Given the description of an element on the screen output the (x, y) to click on. 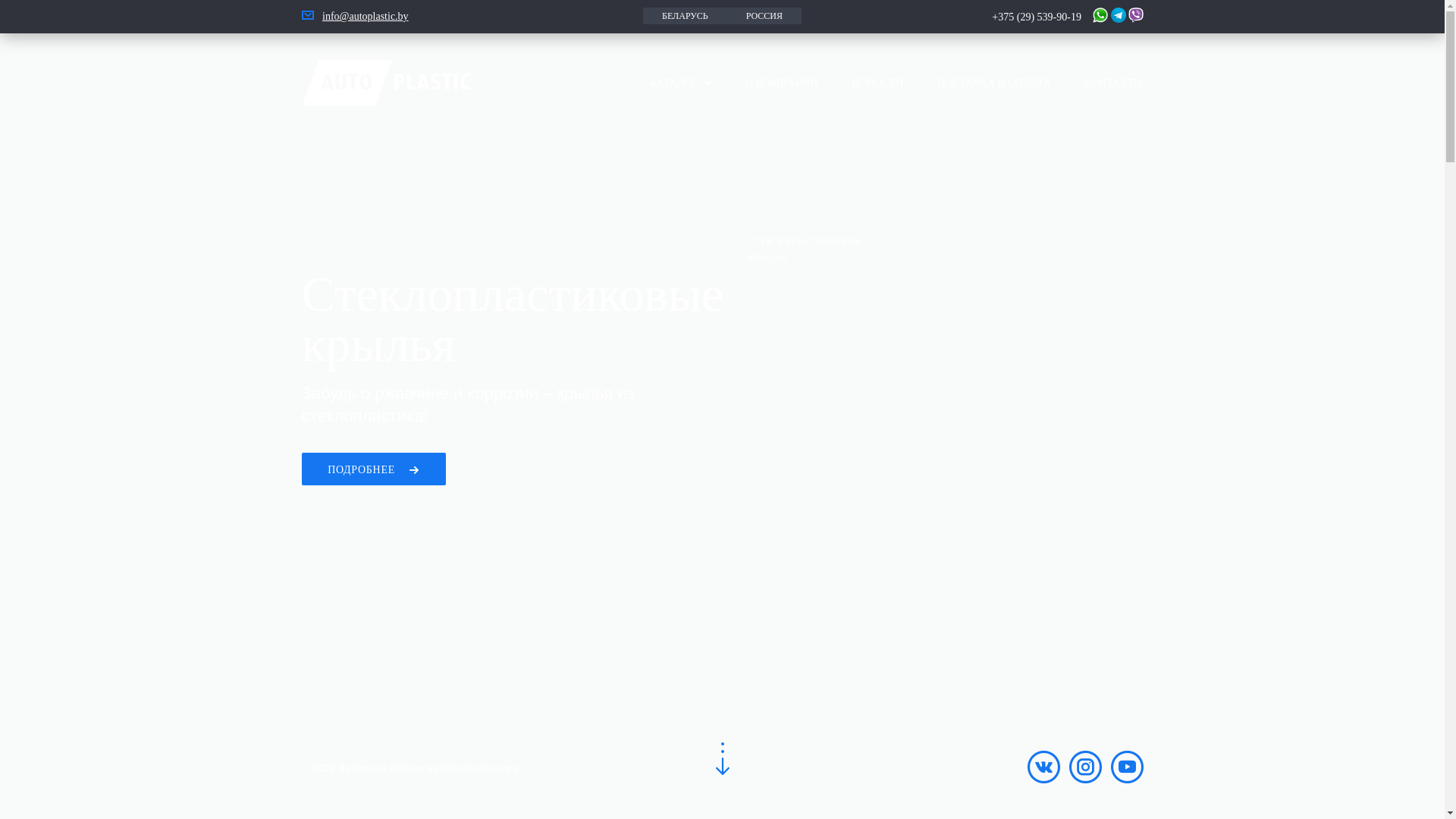
info@autoplastic.by Element type: text (365, 15)
+375 (29) 539-90-19 Element type: text (1040, 16)
